Given the description of an element on the screen output the (x, y) to click on. 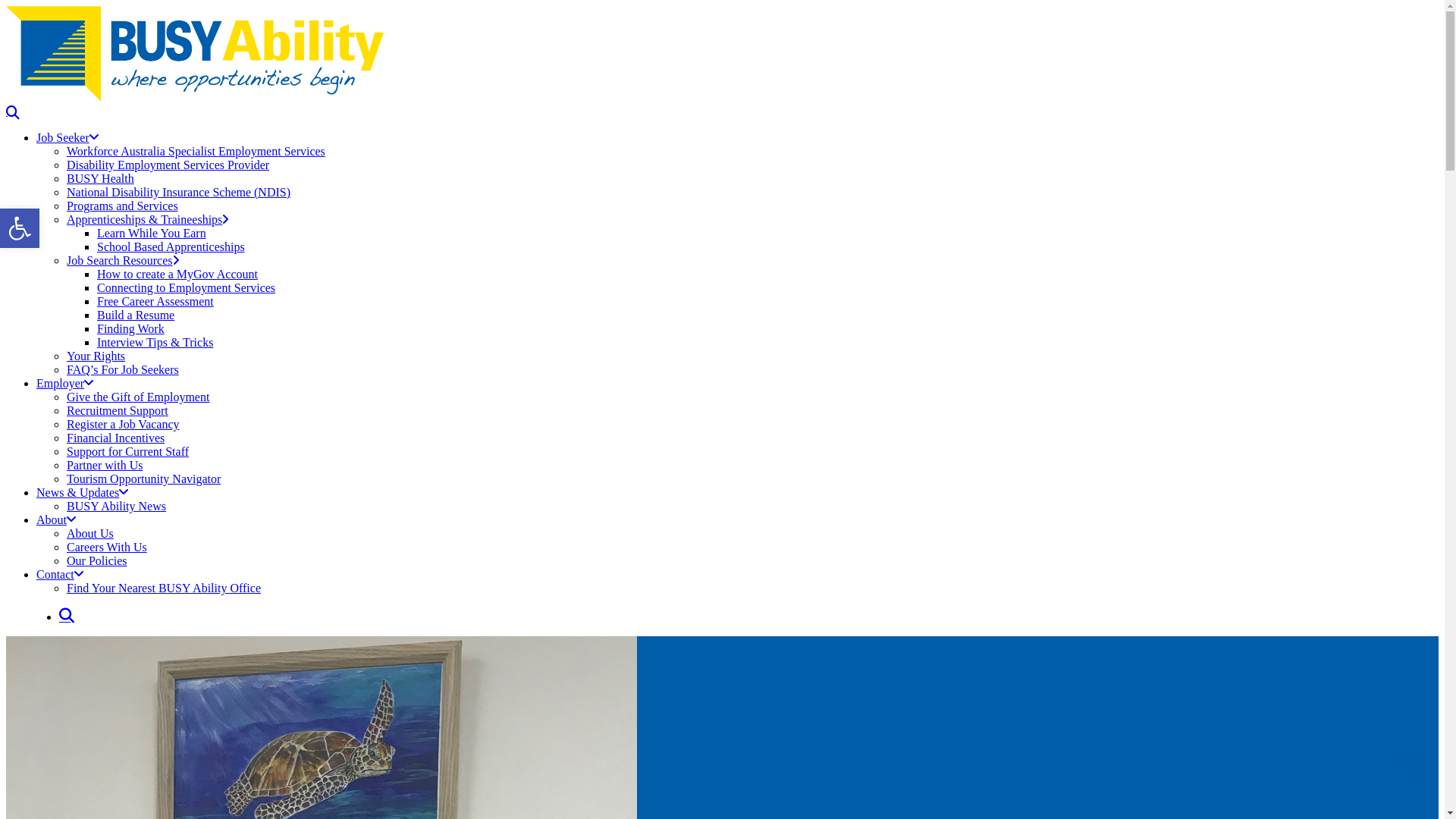
Partner with Us Element type: text (104, 464)
Employer Element type: text (64, 382)
Apprenticeships & Traineeships Element type: text (147, 219)
Support for Current Staff Element type: text (127, 451)
Contact Element type: text (59, 573)
Careers With Us Element type: text (106, 546)
About Us Element type: text (89, 533)
Tourism Opportunity Navigator Element type: text (143, 478)
About Element type: text (55, 519)
Find Your Nearest BUSY Ability Office Element type: text (163, 587)
Job Search Resources Element type: text (122, 260)
Job Seeker Element type: text (67, 137)
News & Updates Element type: text (82, 492)
Register a Job Vacancy Element type: text (122, 423)
Your Rights Element type: text (95, 355)
Free Career Assessment Element type: text (155, 300)
Financial Incentives Element type: text (115, 437)
BUSY Ability News Element type: text (116, 505)
Connecting to Employment Services Element type: text (186, 287)
Learn While You Earn Element type: text (151, 232)
Finding Work Element type: text (130, 328)
Recruitment Support Element type: text (117, 410)
Our Policies Element type: text (96, 560)
Workforce Australia Specialist Employment Services Element type: text (195, 150)
Open toolbar
Accessibility Tools Element type: text (19, 227)
Disability Employment Services Provider Element type: text (167, 164)
BUSY Health Element type: text (100, 178)
Build a Resume Element type: text (135, 314)
Programs and Services Element type: text (122, 205)
Interview Tips & Tricks Element type: text (155, 341)
School Based Apprenticeships Element type: text (170, 246)
How to create a MyGov Account Element type: text (177, 273)
National Disability Insurance Scheme (NDIS) Element type: text (178, 191)
Give the Gift of Employment Element type: text (137, 396)
